Given the description of an element on the screen output the (x, y) to click on. 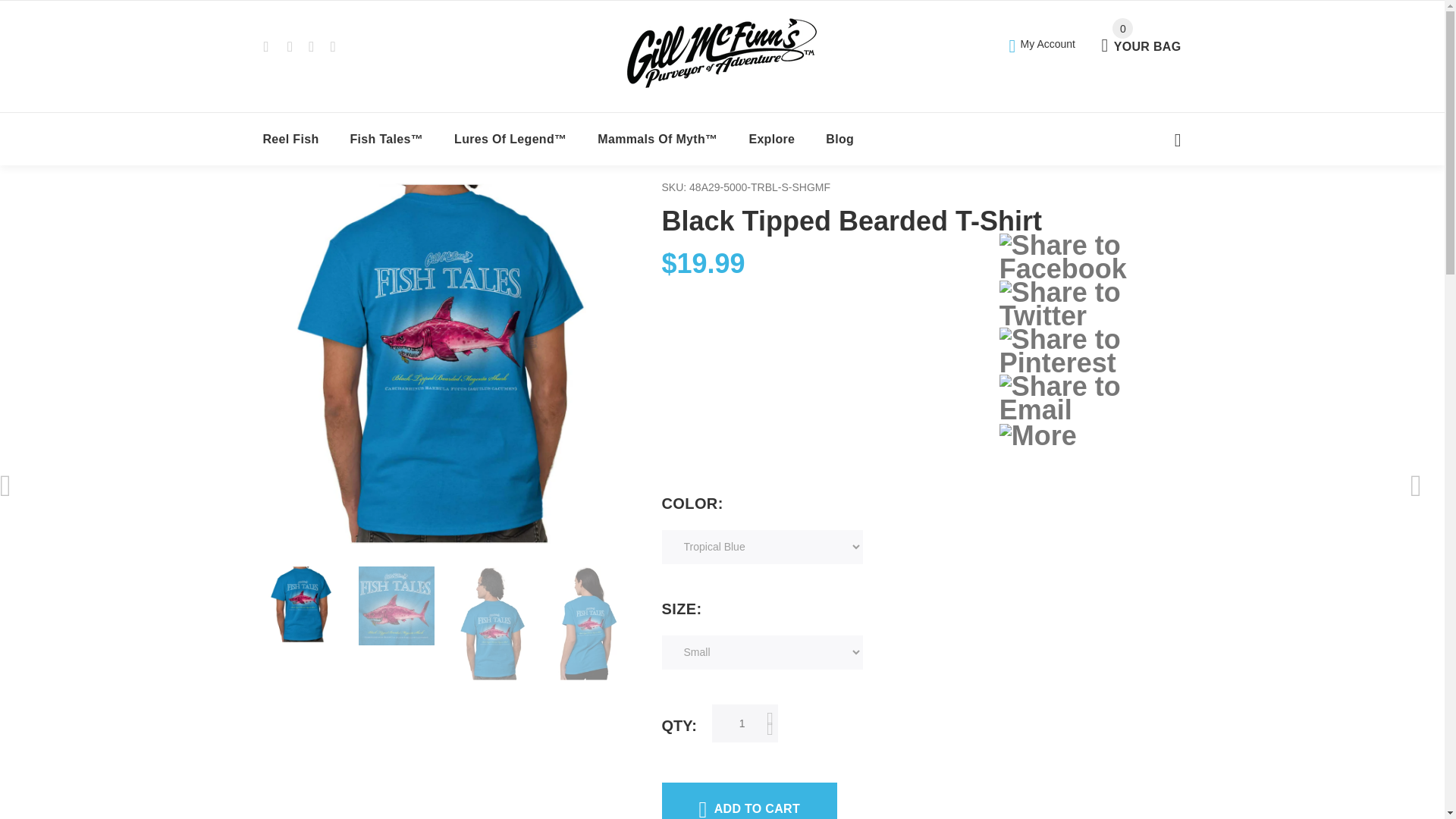
Reel Fish (290, 139)
1 (744, 723)
My Account (1042, 42)
Explore (1141, 37)
Blog (771, 139)
